Given the description of an element on the screen output the (x, y) to click on. 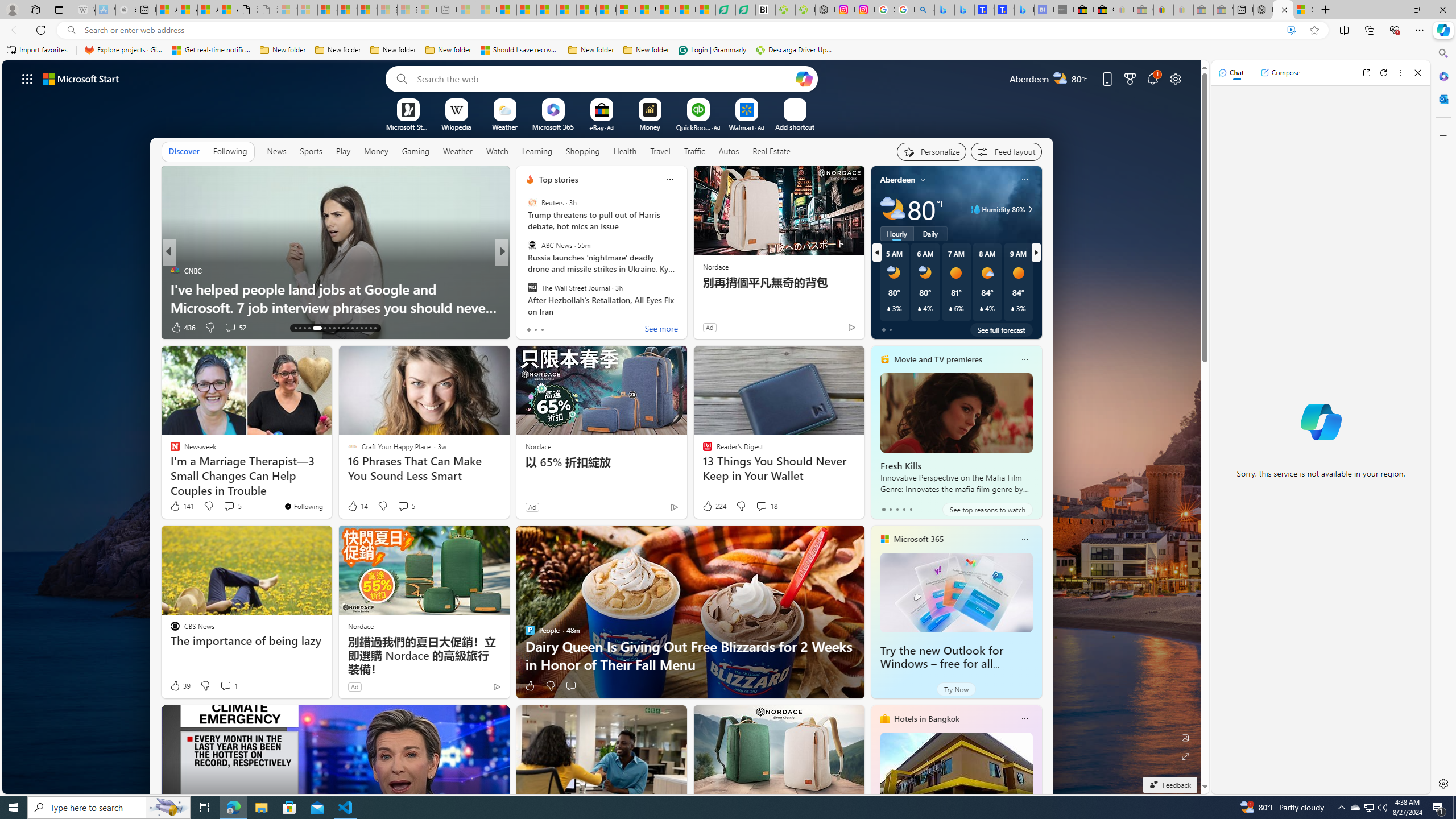
AutomationID: tab-38 (361, 328)
Favorites bar (715, 49)
Top Stories - MSN - Sleeping (466, 9)
The Weather Channel (524, 270)
View comments 52 Comment (234, 327)
